Given the description of an element on the screen output the (x, y) to click on. 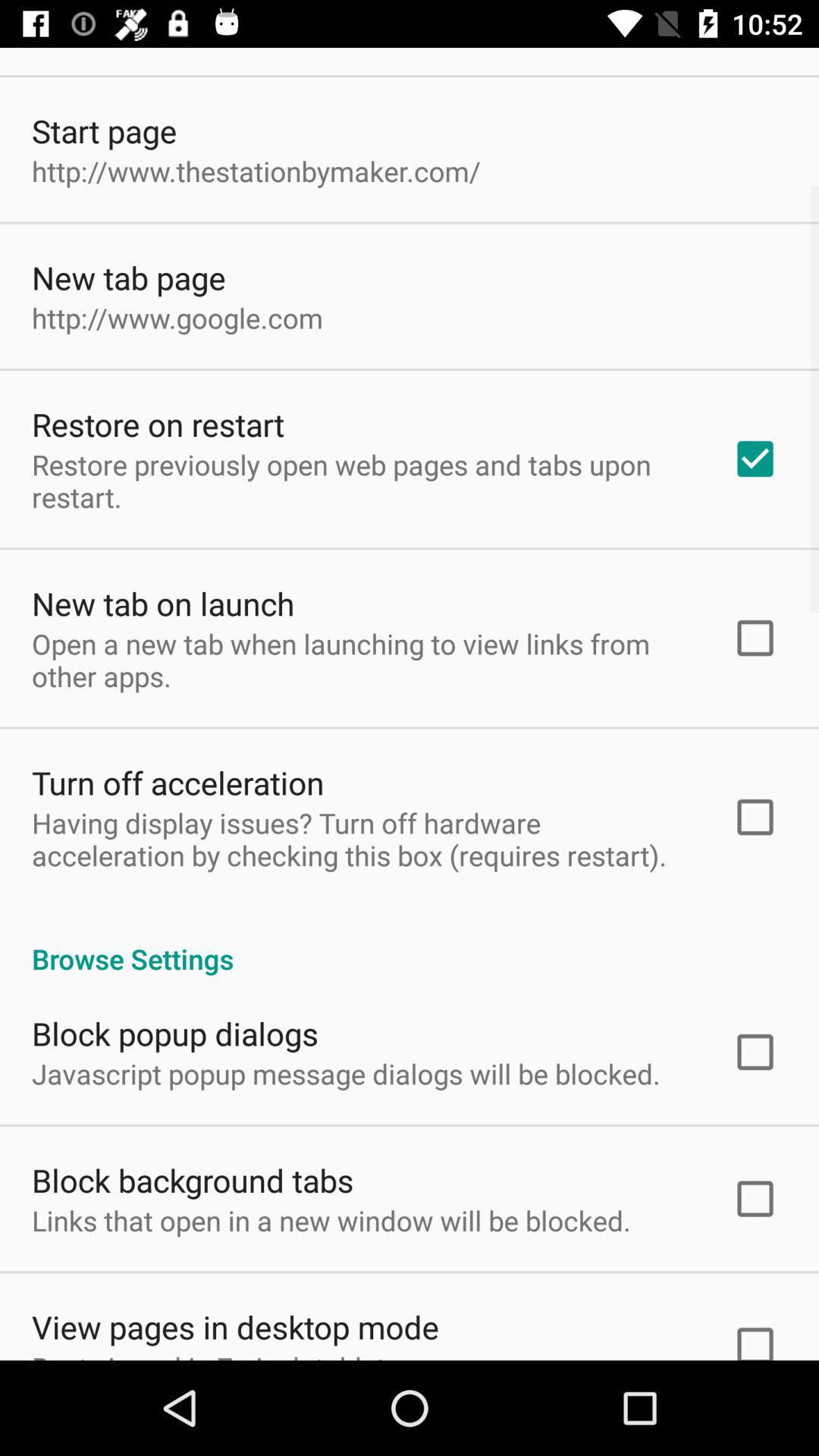
jump until the javascript popup message item (345, 1073)
